Given the description of an element on the screen output the (x, y) to click on. 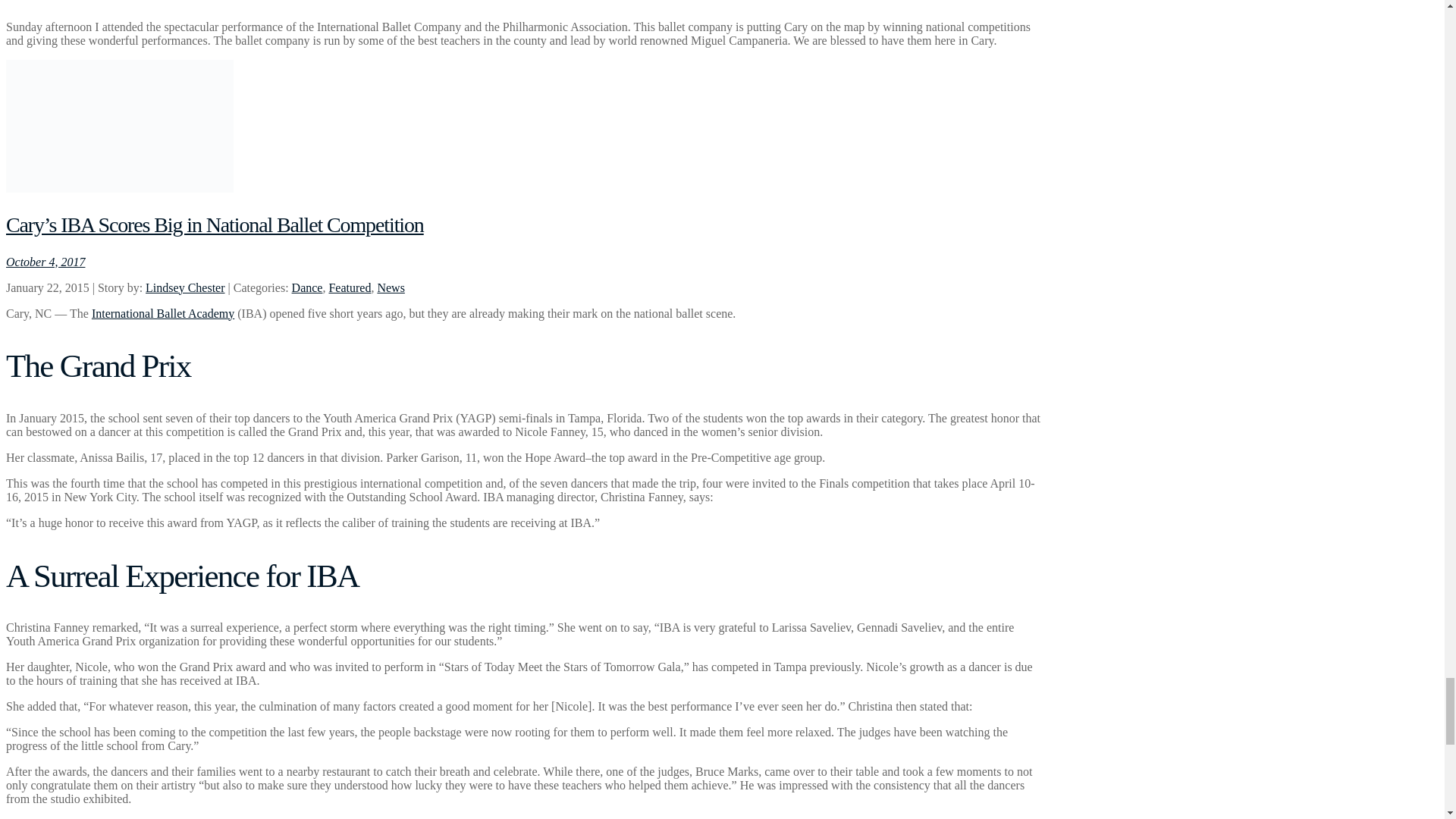
International Ballet Academy (162, 313)
Posts by Lindsey Chester (184, 287)
